Given the description of an element on the screen output the (x, y) to click on. 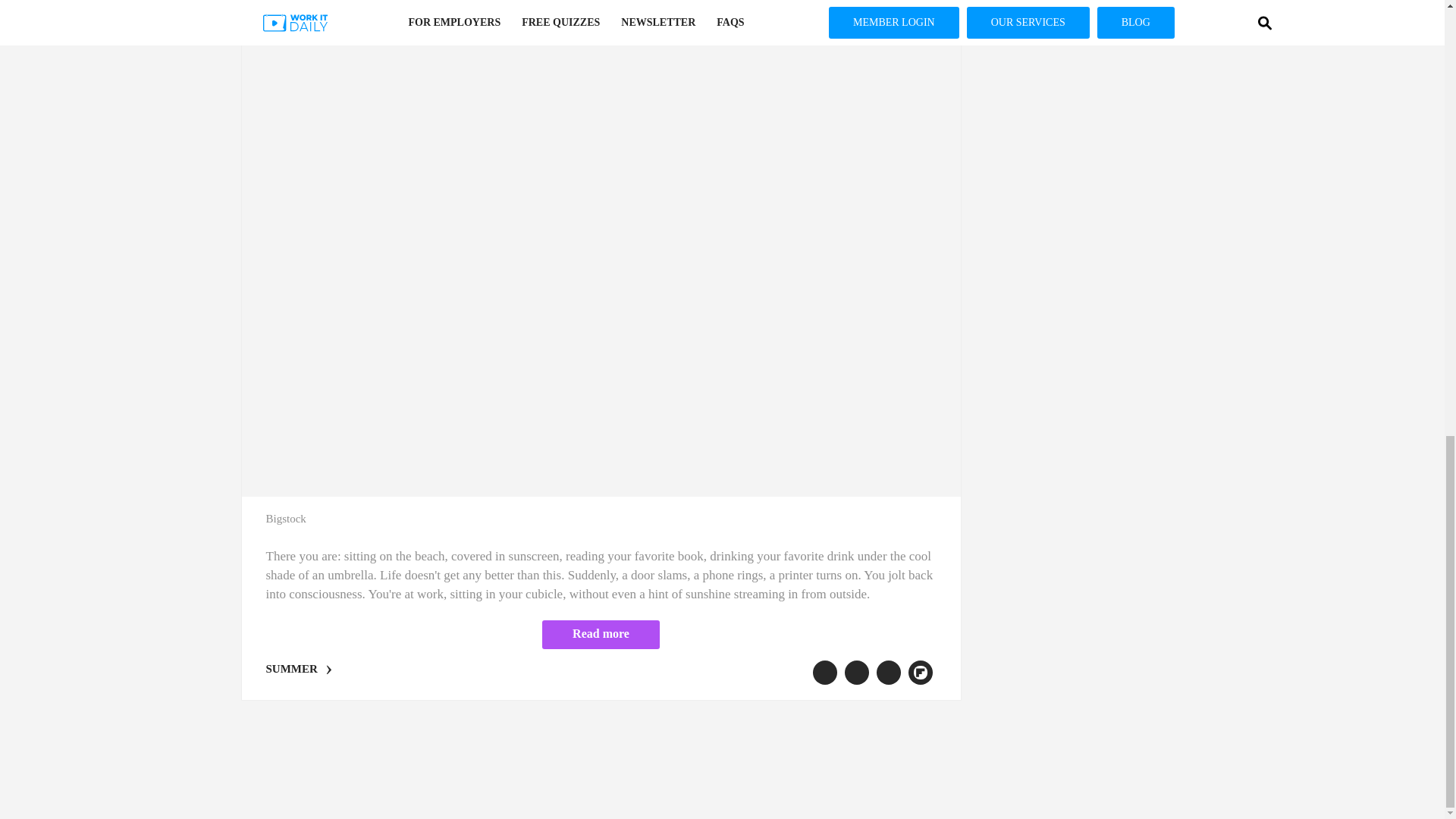
Ariella Coombs (300, 5)
Jenna Arcand (366, 5)
SUMMER (290, 668)
